Given the description of an element on the screen output the (x, y) to click on. 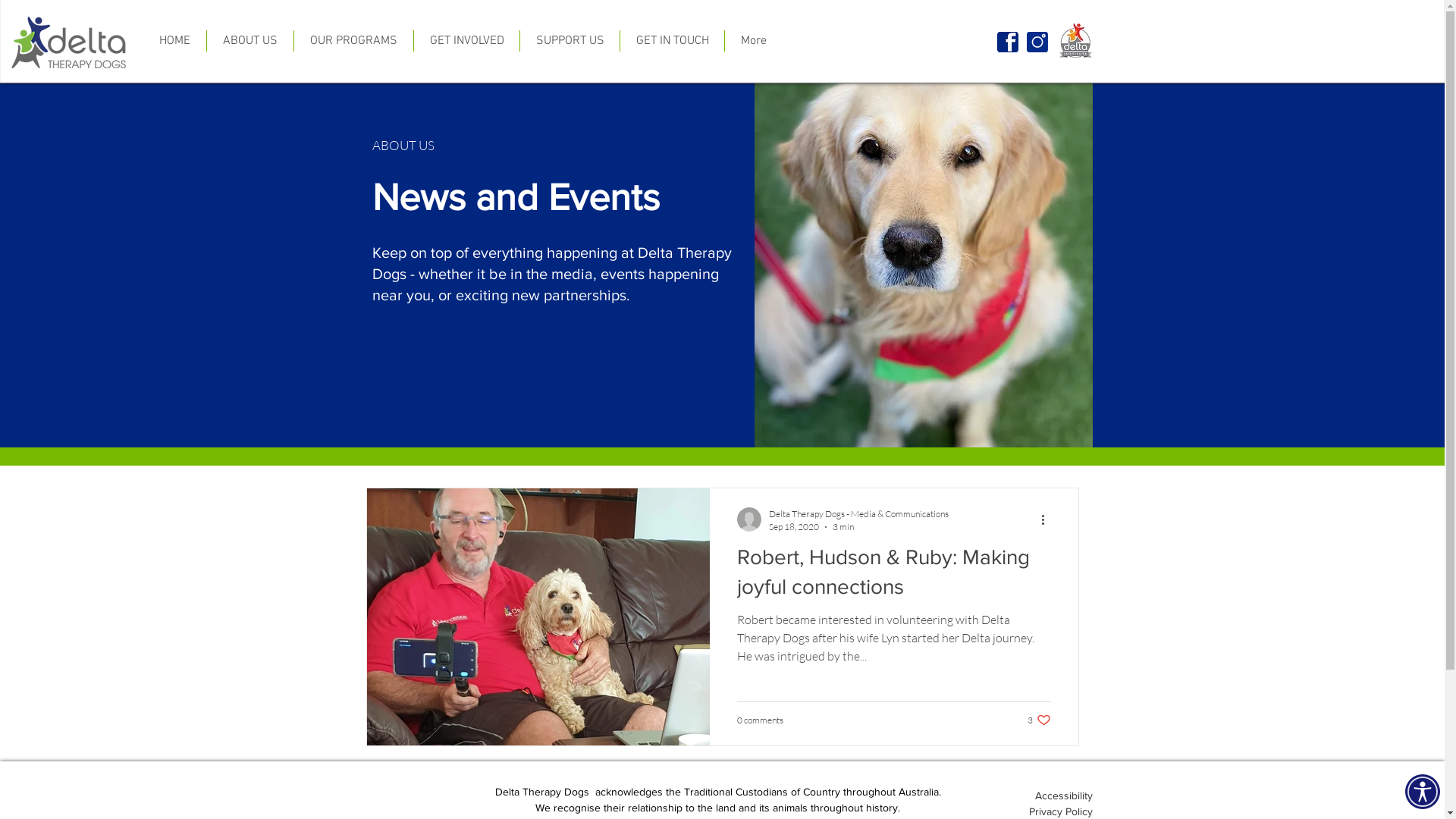
ABOUT US Element type: text (250, 40)
Accessibility Element type: text (1063, 794)
3 likes. Post not marked as liked
3 Element type: text (1038, 719)
Delta Therapy Dogs - Media & Communications Element type: text (858, 513)
Privacy Policy Element type: text (1060, 811)
0 comments Element type: text (760, 719)
HOME Element type: text (174, 40)
OUR PROGRAMS Element type: text (353, 40)
SUPPORT US Element type: text (569, 40)
GET INVOLVED Element type: text (466, 40)
GET IN TOUCH Element type: text (672, 40)
Robert, Hudson & Ruby: Making joyful connections Element type: text (894, 575)
